Given the description of an element on the screen output the (x, y) to click on. 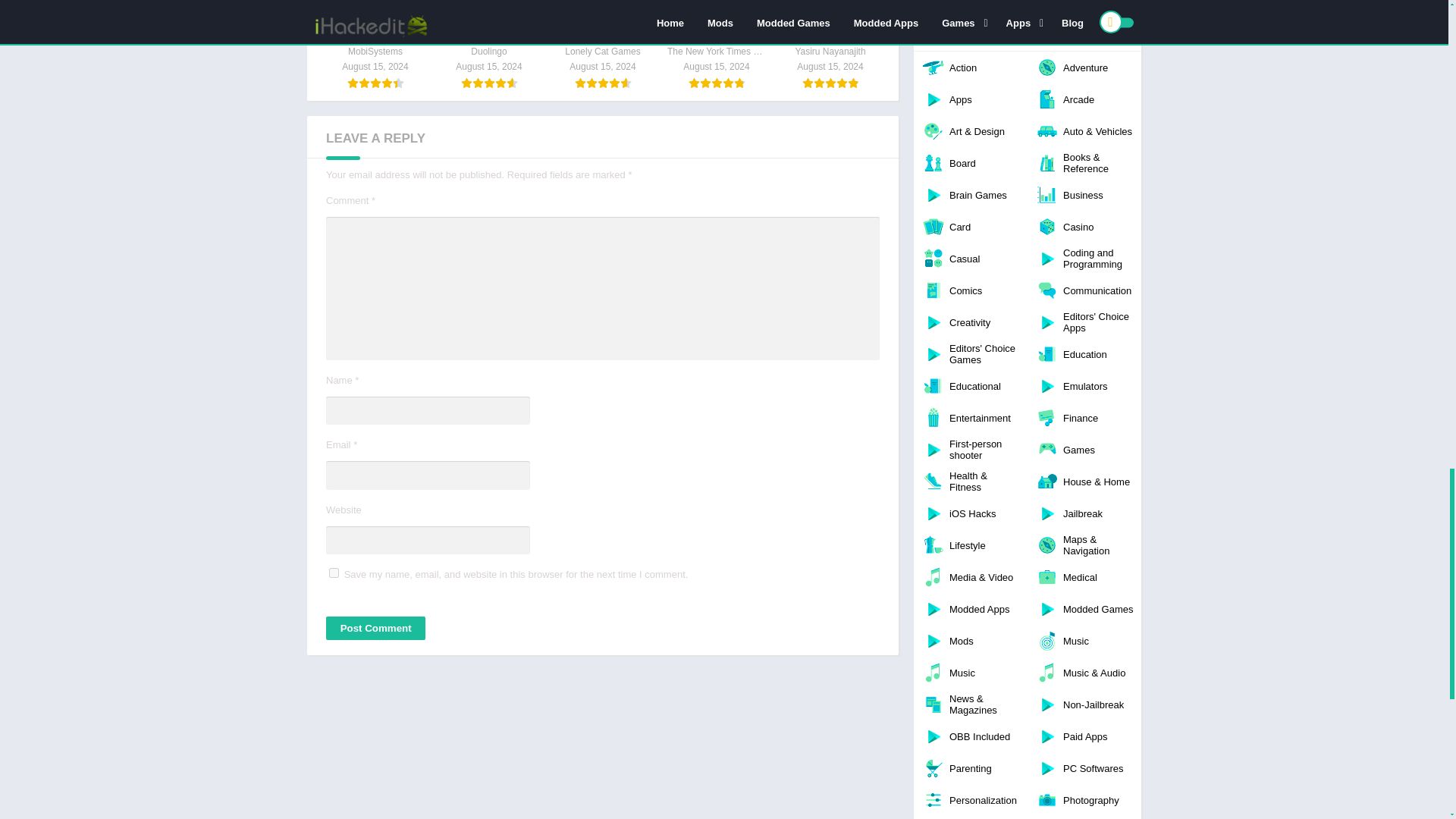
yes (334, 573)
Device Info Mod APK (829, 44)
Duolingo Mod APK (488, 44)
The New York Times Mod APK (715, 44)
Post Comment (375, 627)
